Given the description of an element on the screen output the (x, y) to click on. 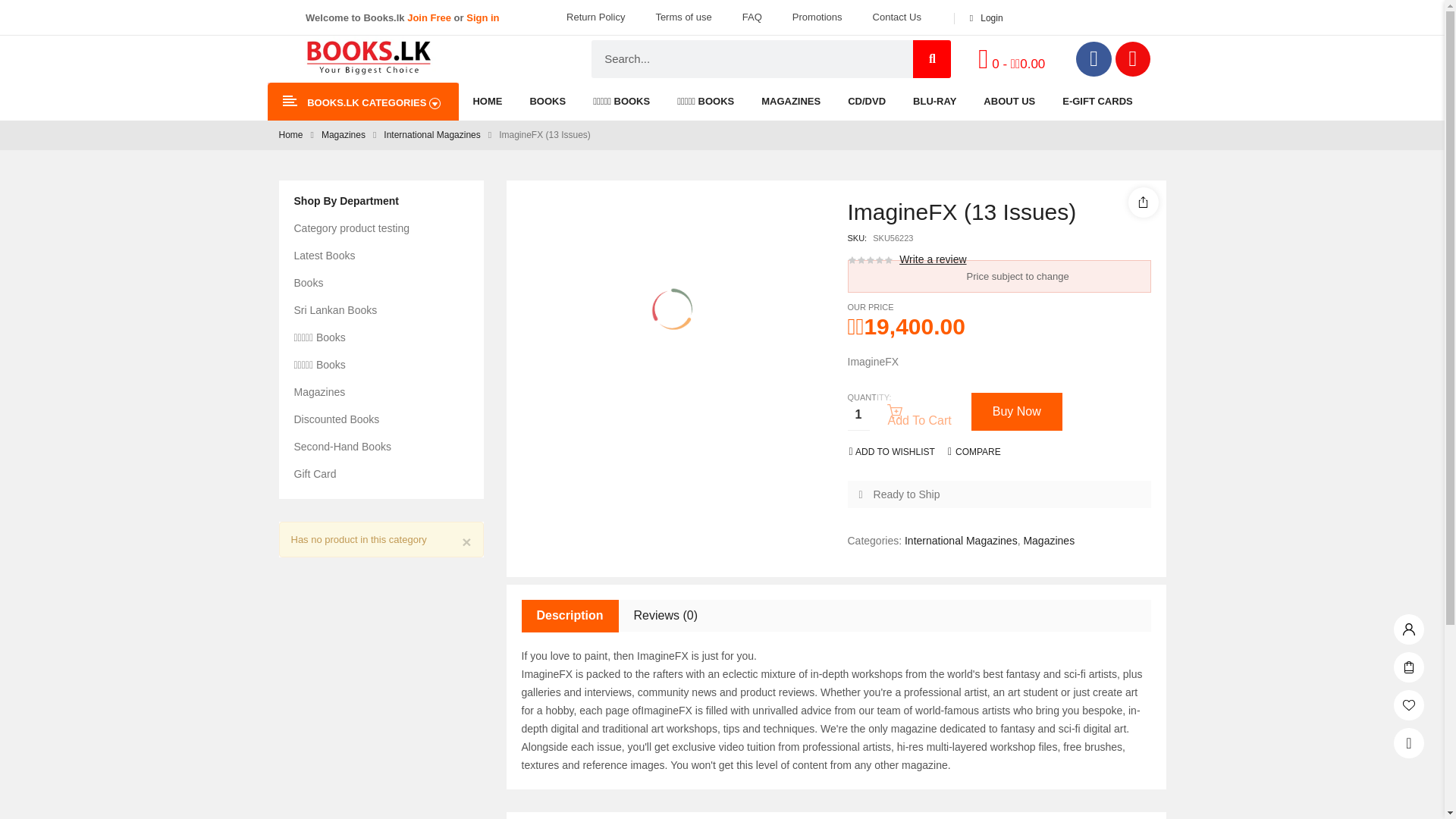
Promotions (817, 17)
Return Policy (595, 17)
FAQ (751, 17)
Contact Us (896, 17)
mainlogo books (367, 58)
Terms of use (683, 17)
Login (981, 17)
Join Free (429, 17)
Sign in (482, 17)
